Given the description of an element on the screen output the (x, y) to click on. 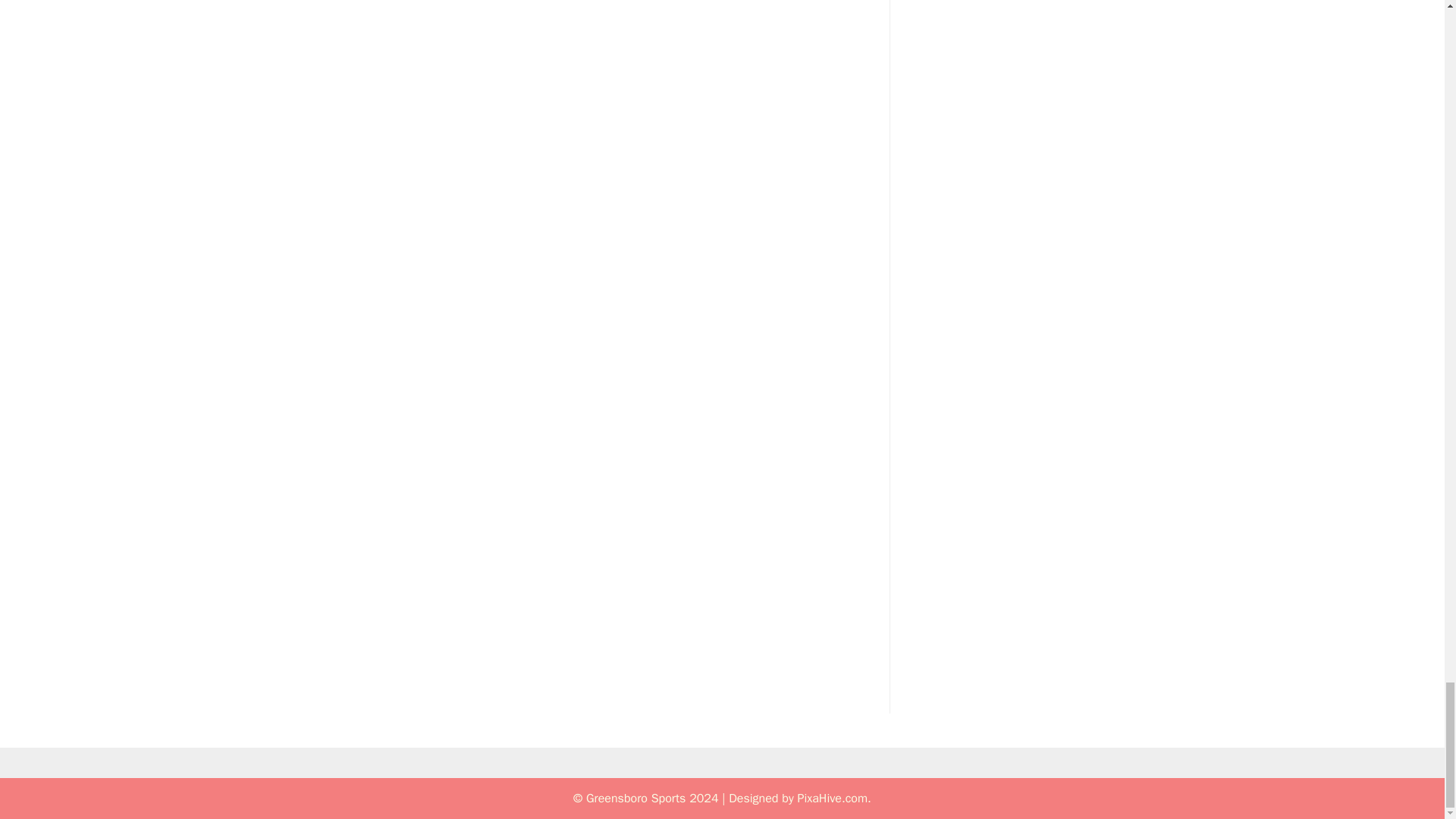
PixaHive.com (831, 798)
